Given the description of an element on the screen output the (x, y) to click on. 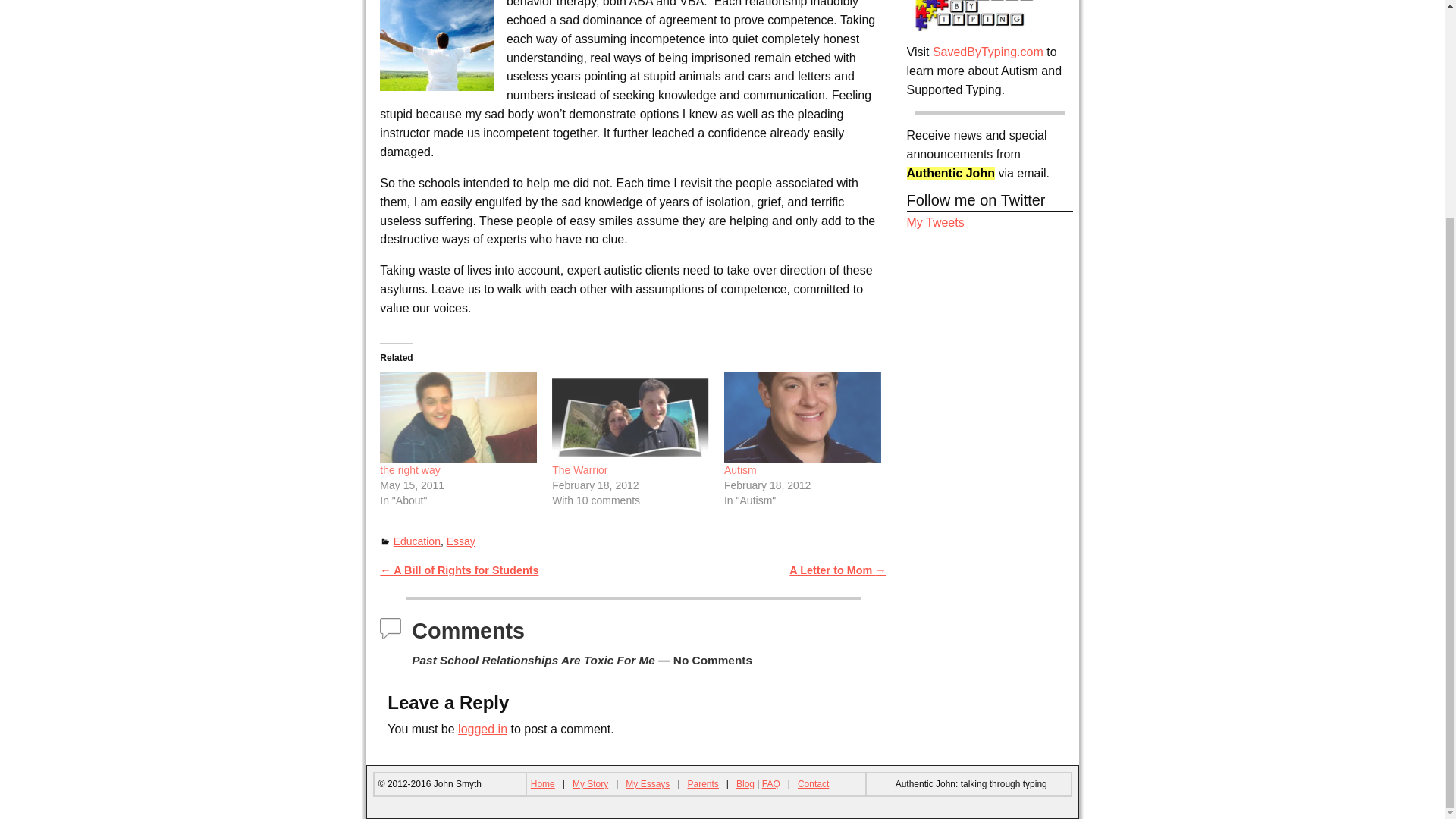
Essay (461, 541)
the right way (458, 416)
Contact (812, 783)
Autism (740, 469)
My Story (590, 783)
SavedByTyping.com (988, 51)
The Warrior (630, 416)
logged in (482, 728)
the right way (409, 469)
Home (542, 783)
My Essays (647, 783)
FAQ (770, 783)
Parents (702, 783)
the right way (409, 469)
My Tweets (935, 222)
